Given the description of an element on the screen output the (x, y) to click on. 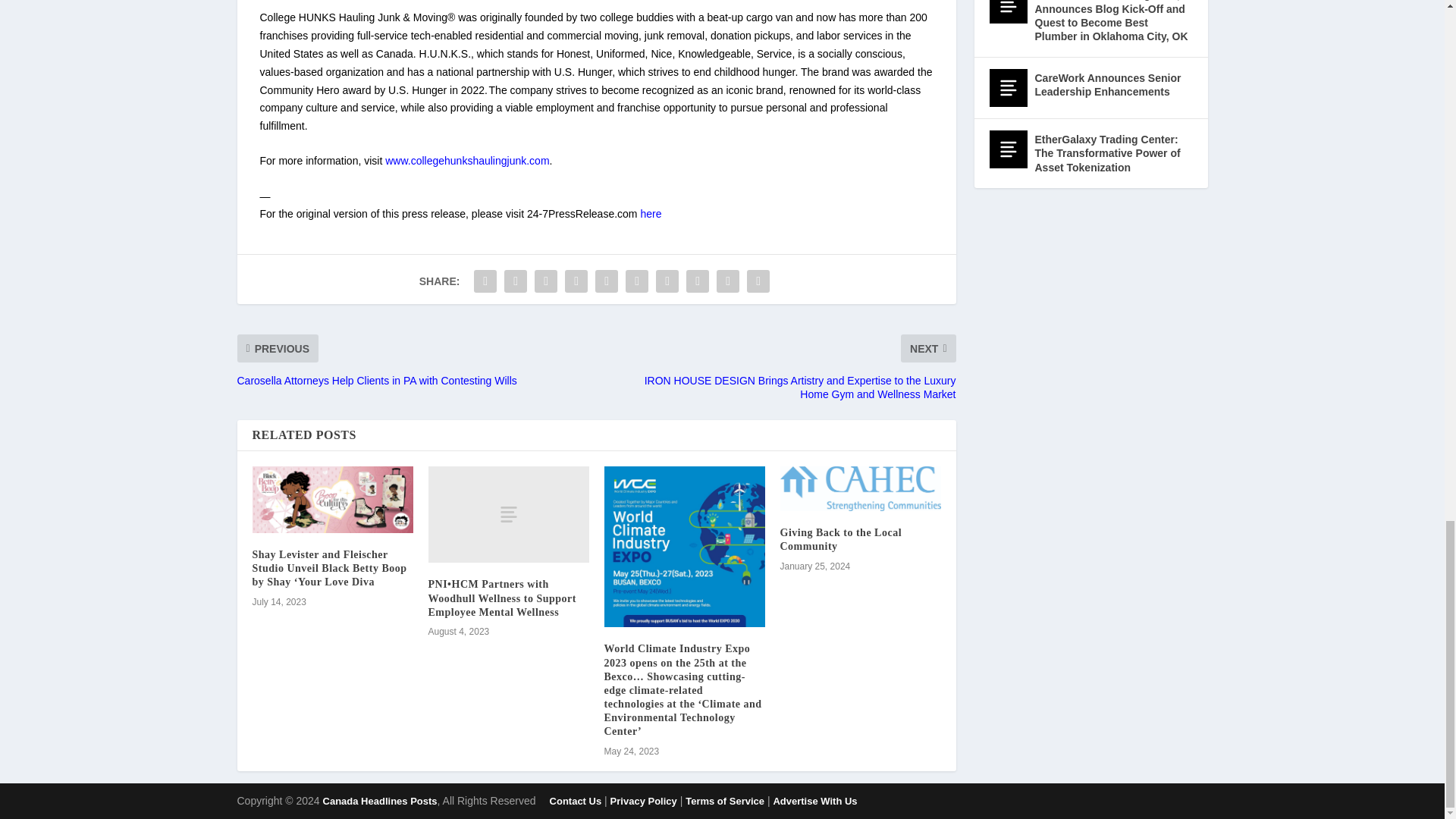
www.collegehunkshaulingjunk.com (466, 160)
here (650, 214)
Giving Back to the Local Community (859, 488)
